Given the description of an element on the screen output the (x, y) to click on. 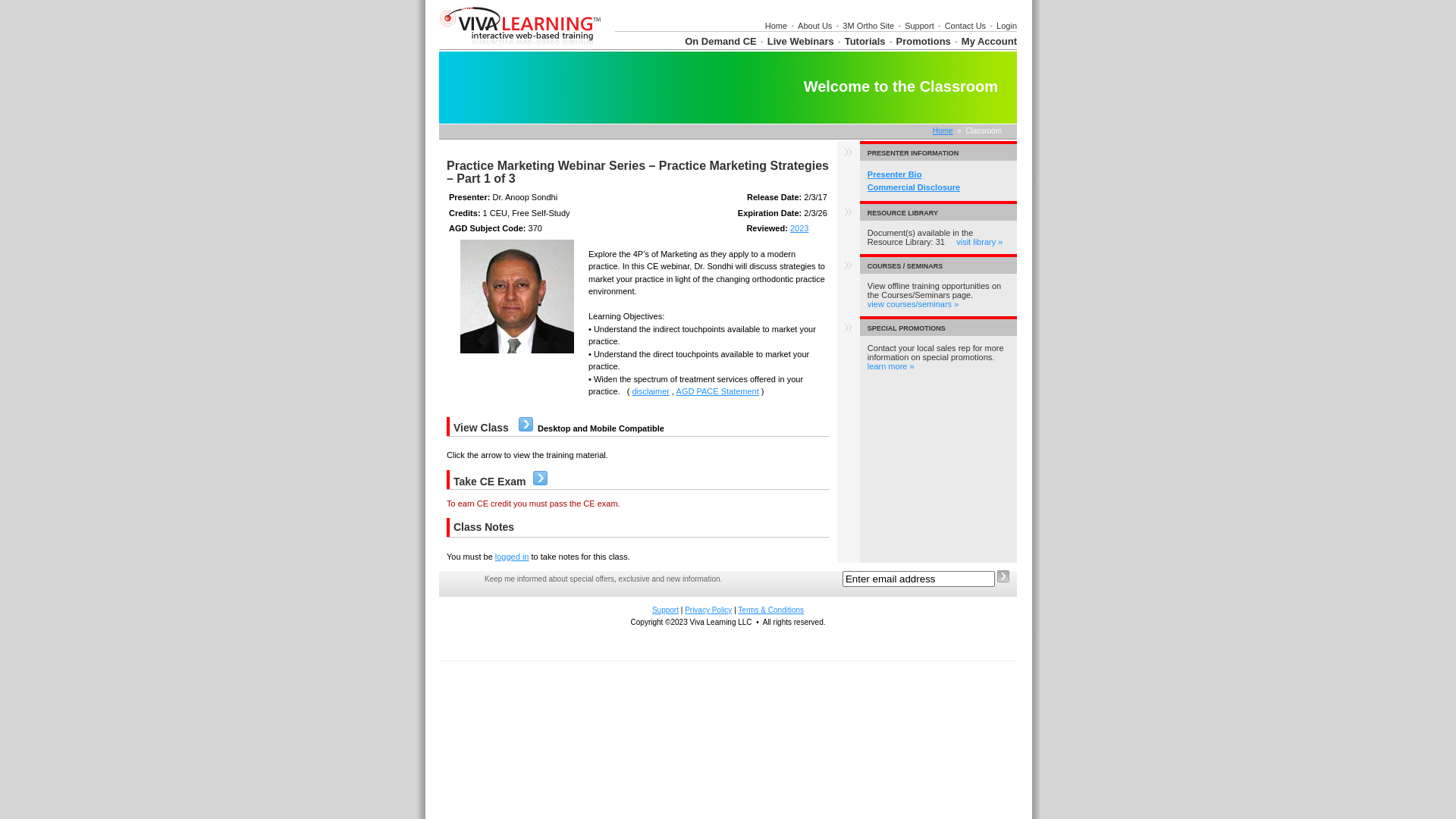
Presenter Bio Element type: text (894, 173)
Support Element type: text (919, 25)
Commercial Disclosure Element type: text (913, 186)
On Demand CE Element type: text (720, 41)
disclaimer Element type: text (650, 390)
Promotions Element type: text (923, 41)
Home Element type: text (942, 130)
Login Element type: text (1006, 25)
3M Ortho Site Element type: text (868, 25)
2023 Element type: text (799, 227)
AGD PACE Statement Element type: text (717, 390)
Support Element type: text (665, 609)
Tutorials Element type: text (864, 41)
Terms & Conditions Element type: text (770, 609)
logged in Element type: text (512, 556)
Contact Us Element type: text (964, 25)
Privacy Policy Element type: text (707, 609)
Home Element type: text (776, 25)
Live Webinars Element type: text (800, 41)
home page Element type: hover (520, 45)
My Account Element type: text (988, 41)
About Us Element type: text (814, 25)
